Given the description of an element on the screen output the (x, y) to click on. 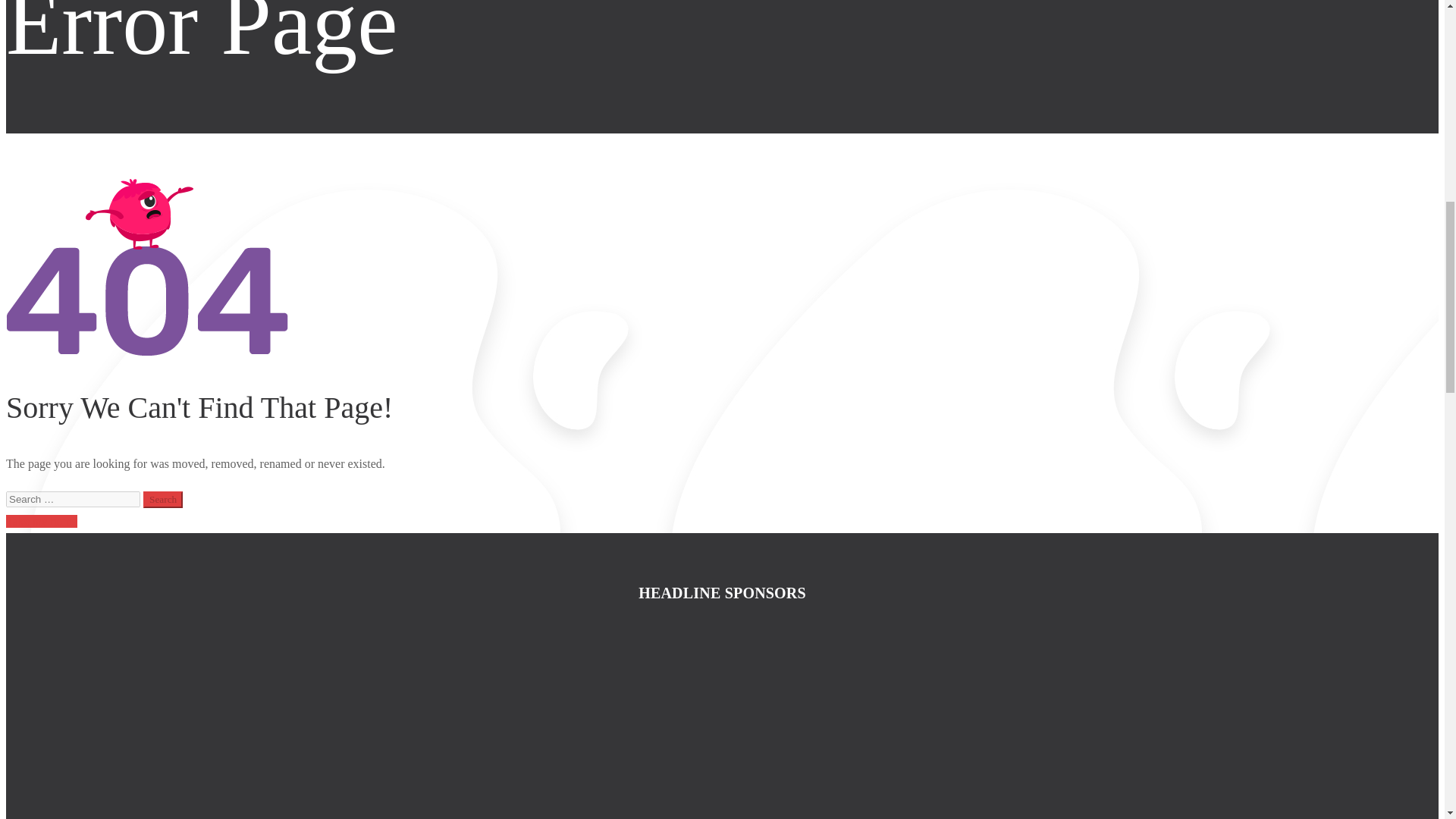
Search (162, 499)
Search (162, 499)
